Given the description of an element on the screen output the (x, y) to click on. 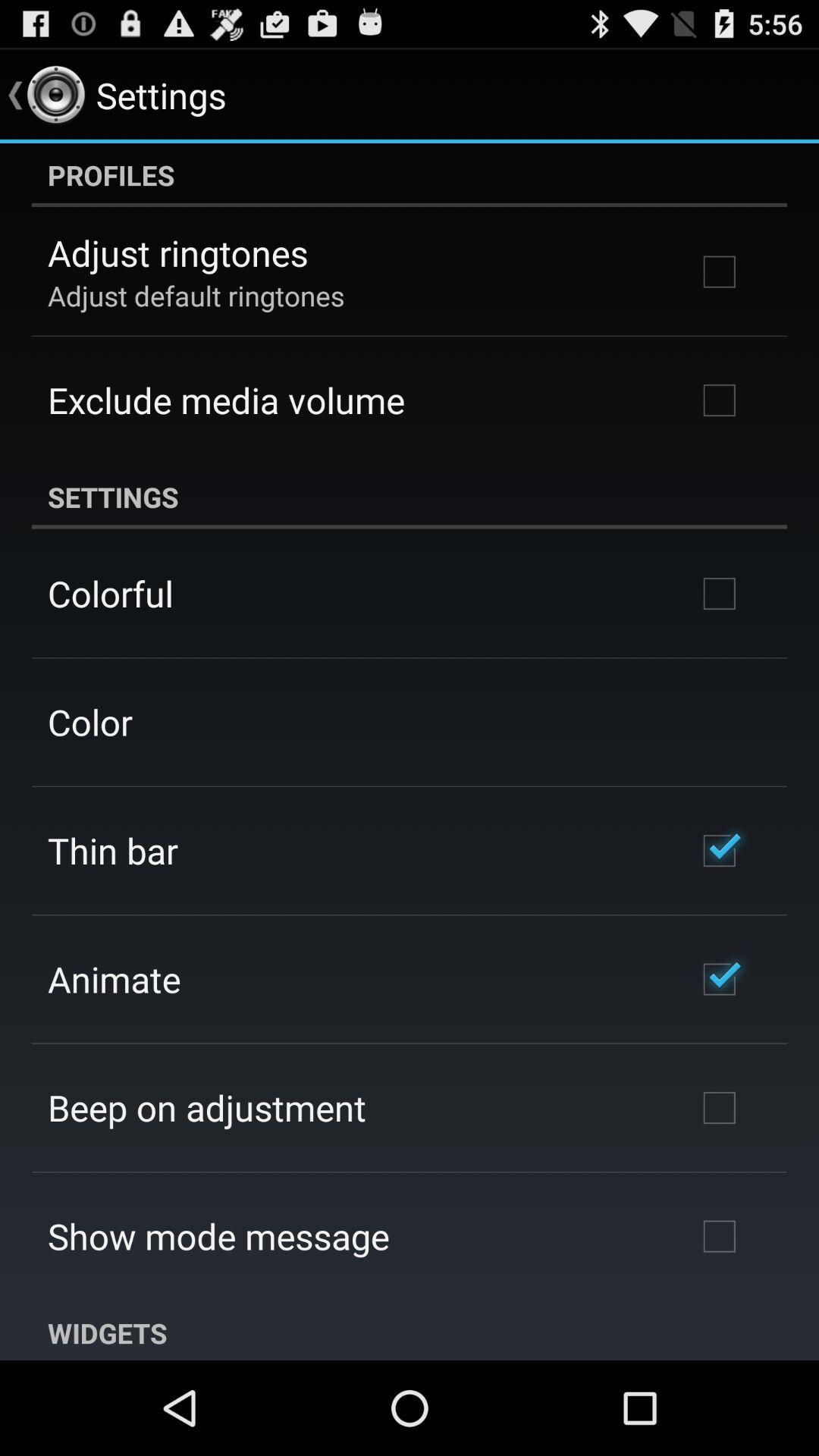
scroll until the color item (89, 721)
